Given the description of an element on the screen output the (x, y) to click on. 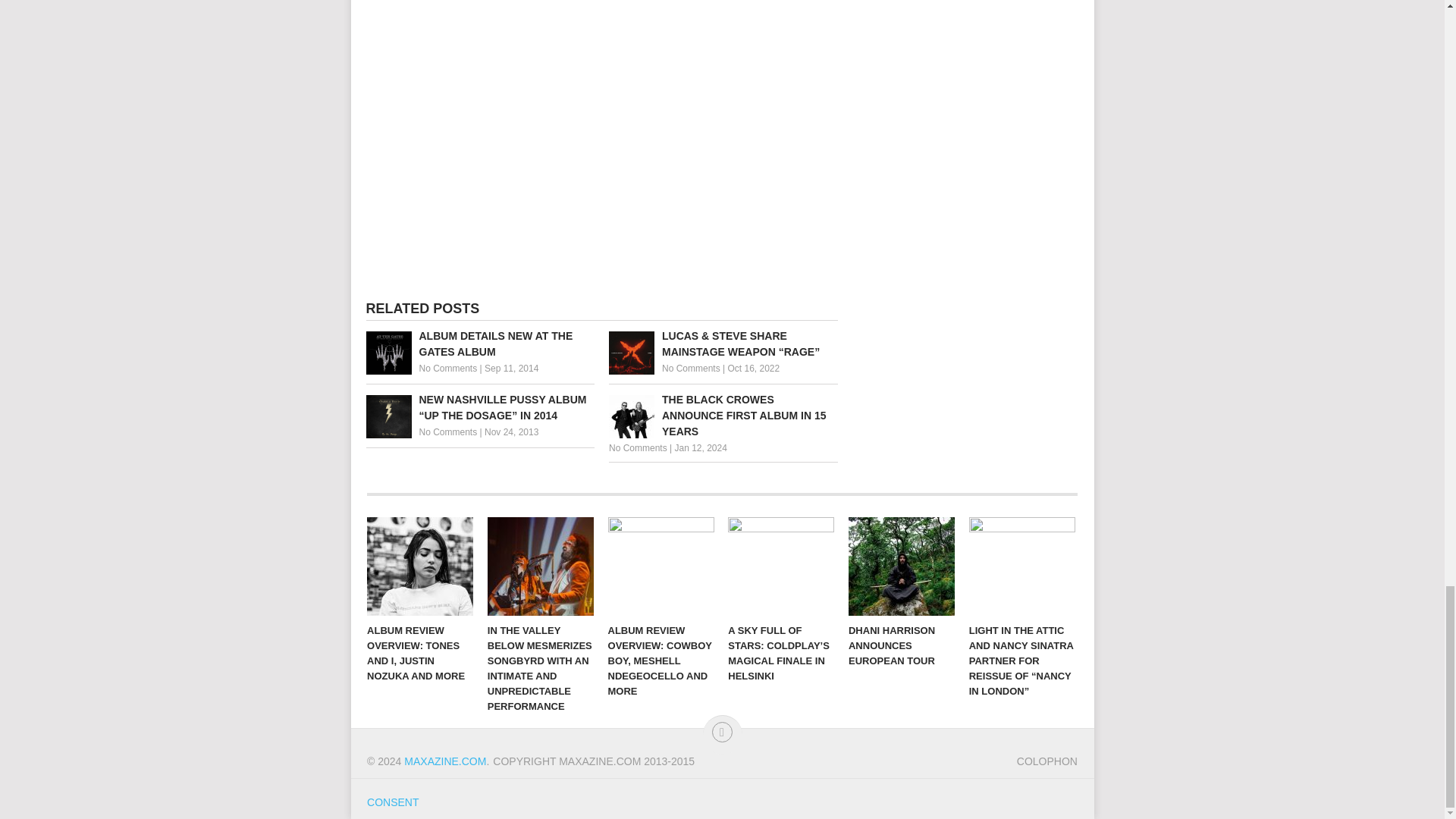
THE BLACK CROWES ANNOUNCE FIRST ALBUM IN 15 YEARS (723, 415)
ALBUM DETAILS NEW AT THE GATES ALBUM (479, 344)
No Comments (691, 368)
No Comments (448, 431)
No Comments (637, 448)
Album details new At The Gates album (479, 344)
No Comments (448, 368)
